Given the description of an element on the screen output the (x, y) to click on. 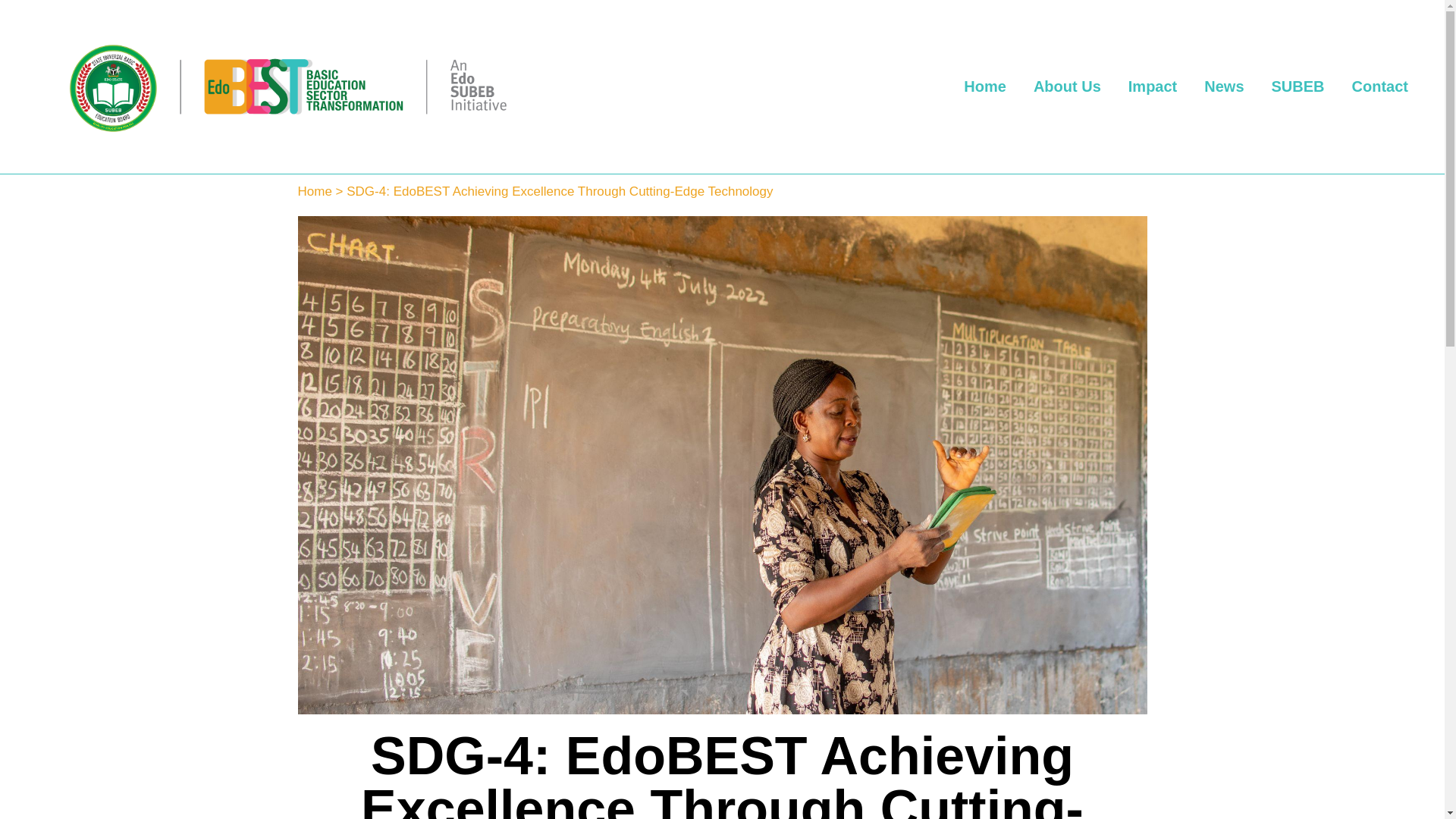
SUBEB (1297, 86)
Home (985, 86)
News (1224, 86)
About Us (1067, 86)
Home (314, 191)
Impact (1153, 86)
Contact (1380, 86)
